Given the description of an element on the screen output the (x, y) to click on. 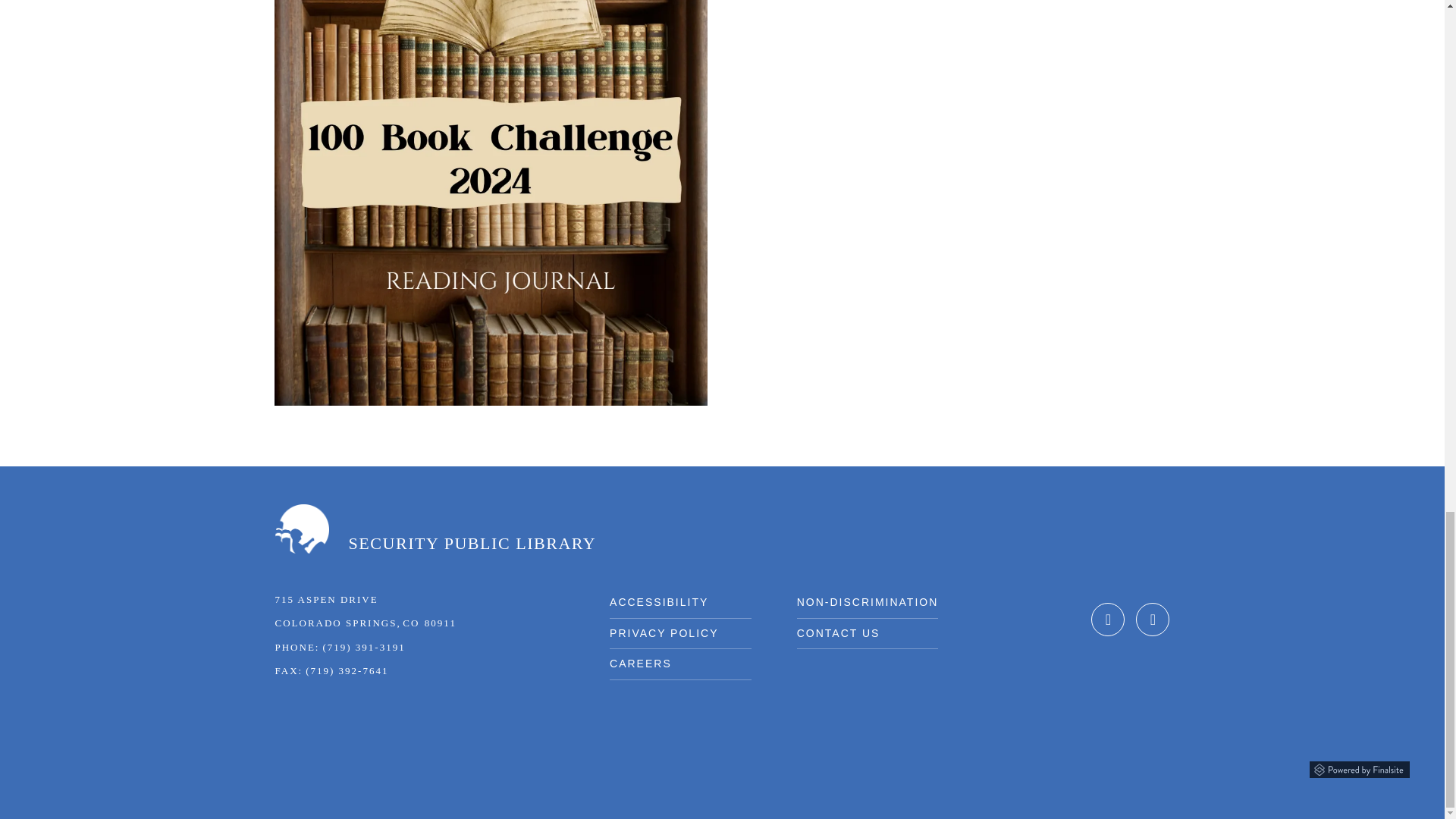
Powered by Finalsite opens in a new window (1358, 769)
